Given the description of an element on the screen output the (x, y) to click on. 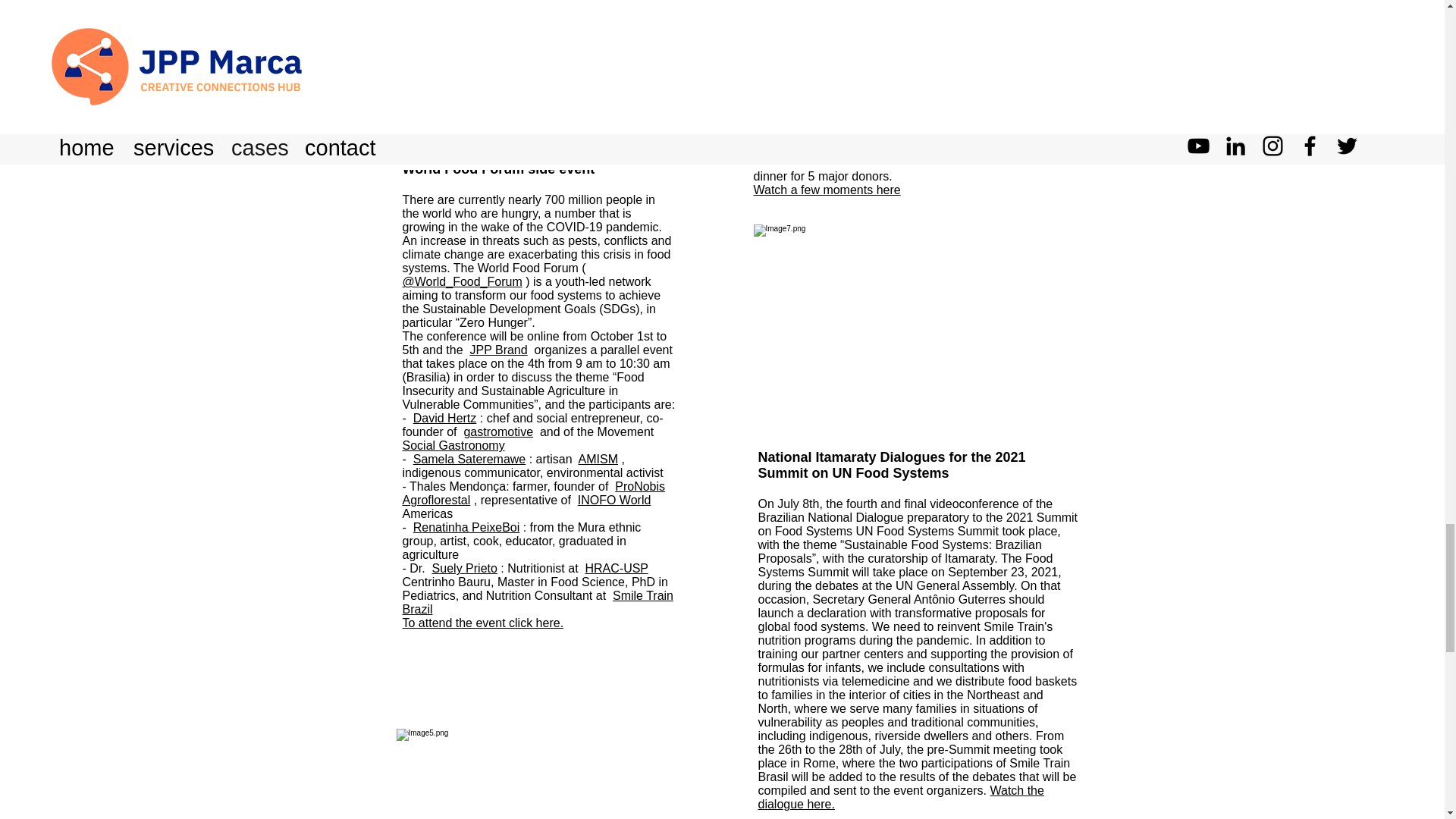
Smile Train Brazil (536, 601)
Samela Sateremawe (469, 459)
gastromotive (497, 431)
INOFO World (614, 499)
Suely Prieto (464, 567)
Social Gastronomy (452, 445)
JPP Brand (497, 349)
AMISM (597, 459)
To attend the event click here. (482, 622)
ProNobis Agroflorestal (533, 492)
Renatinha PeixeBoi (466, 526)
HRAC-USP (616, 567)
David Hertz (445, 418)
